Given the description of an element on the screen output the (x, y) to click on. 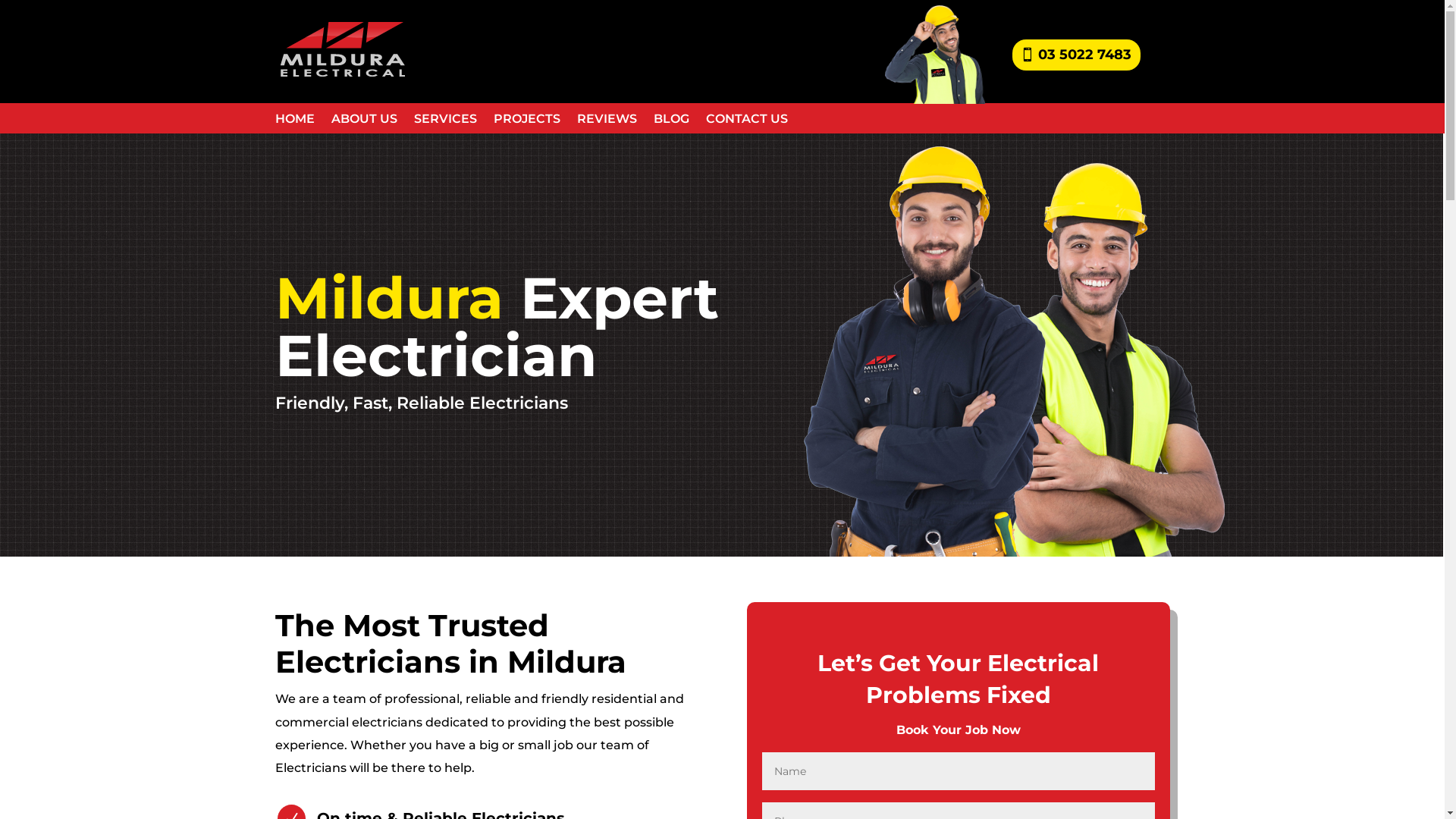
PROJECTS Element type: text (525, 121)
HOME Element type: text (293, 121)
BLOG Element type: text (671, 121)
REVIEWS Element type: text (606, 121)
03 5022 7483 Element type: text (1076, 54)
electrician_midlura Element type: hover (934, 54)
SERVICES Element type: text (445, 121)
CONTACT US Element type: text (746, 121)
ABOUT US Element type: text (363, 121)
MilduraElectricalLogo_NEW Element type: hover (340, 47)
